Given the description of an element on the screen output the (x, y) to click on. 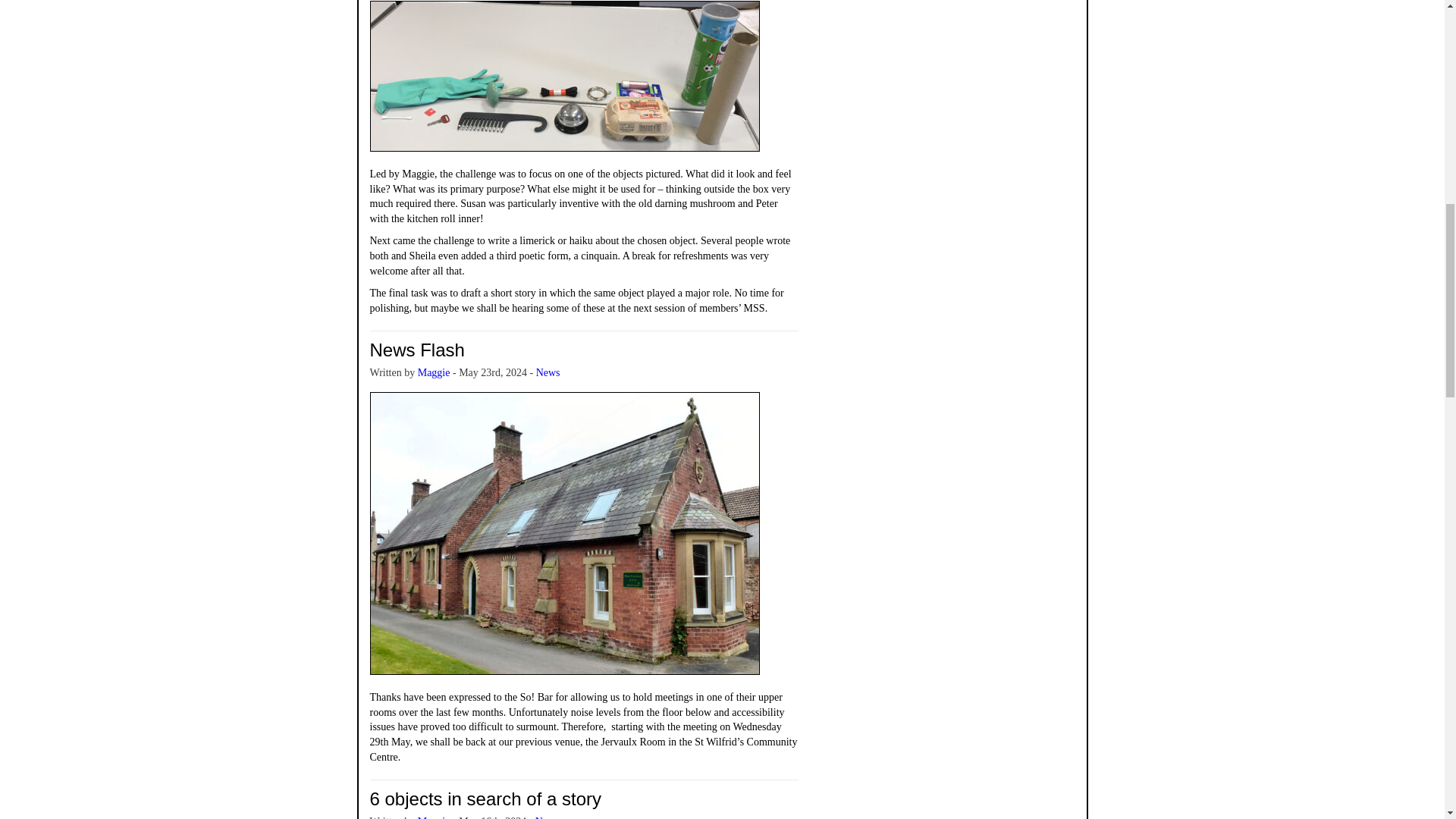
News Flash (416, 349)
Maggie (433, 372)
News (547, 372)
Posts by Maggie (433, 372)
Maggie (433, 817)
Permanent Link to 6 objects in search of a story (485, 798)
6 objects in search of a story (485, 798)
News (547, 817)
Permanent Link to News Flash (416, 349)
Posts by Maggie (433, 817)
